Given the description of an element on the screen output the (x, y) to click on. 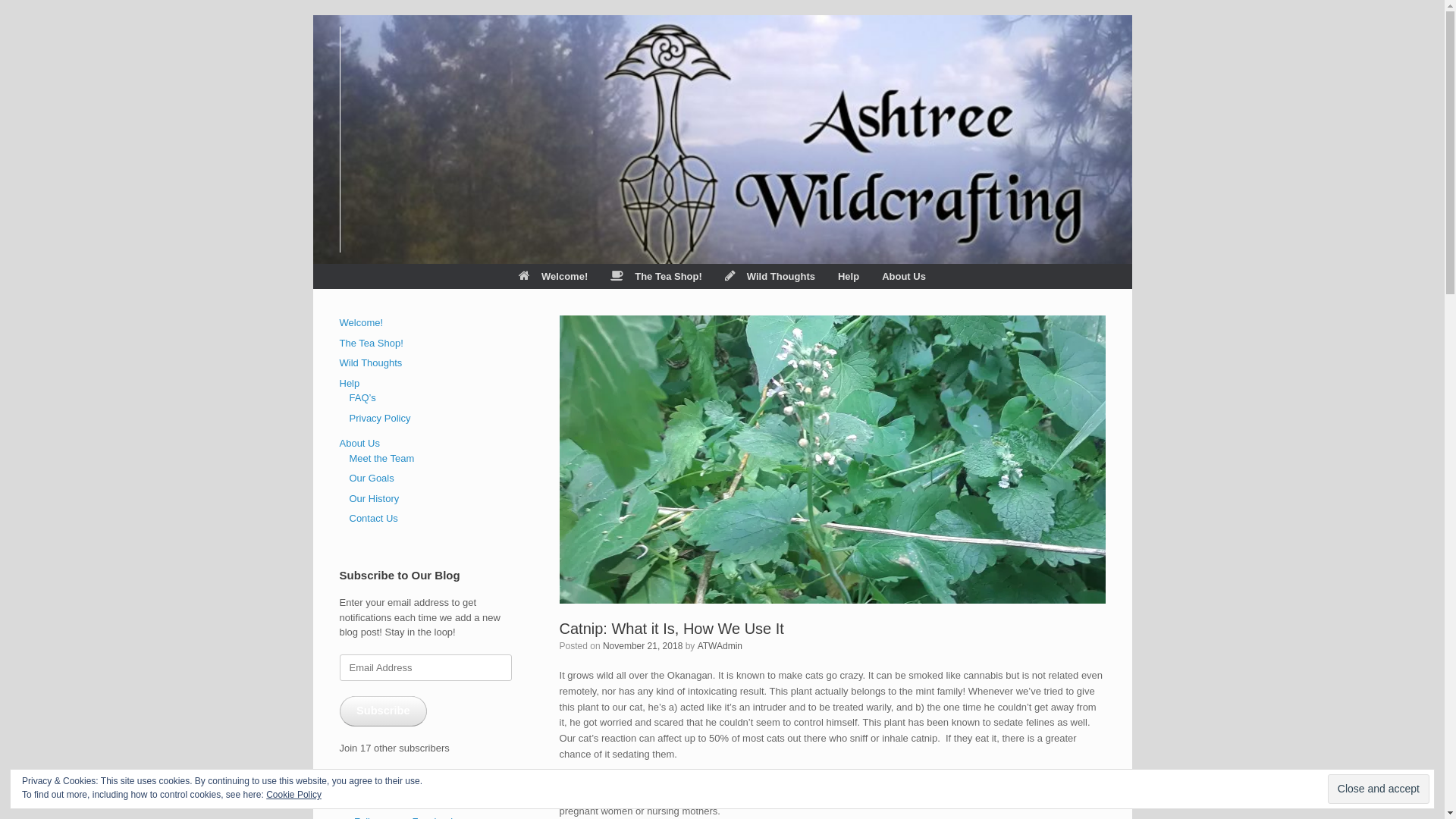
About Us Element type: text (903, 275)
About Us Element type: text (359, 442)
Wild Thoughts Element type: text (370, 362)
Welcome! Element type: text (361, 322)
Follow us on Facebook Element type: text (402, 793)
November 21, 2018 Element type: text (642, 645)
Our History Element type: text (373, 498)
Ashtree Wildcrafting Element type: hover (339, 139)
The Tea Shop! Element type: text (371, 342)
Subscribe Element type: text (383, 711)
Help Element type: text (349, 383)
Meet the Team Element type: text (381, 457)
Our Goals Element type: text (370, 477)
ATWAdmin Element type: text (719, 645)
The Tea Shop! Element type: text (656, 275)
Cookie Policy Element type: text (293, 794)
Privacy Policy Element type: text (379, 417)
Wild Thoughts Element type: text (769, 275)
Skip to content Element type: text (312, 14)
Contact Us Element type: text (372, 518)
Close and accept Element type: text (1378, 788)
Welcome! Element type: text (553, 275)
Help Element type: text (848, 275)
